Given the description of an element on the screen output the (x, y) to click on. 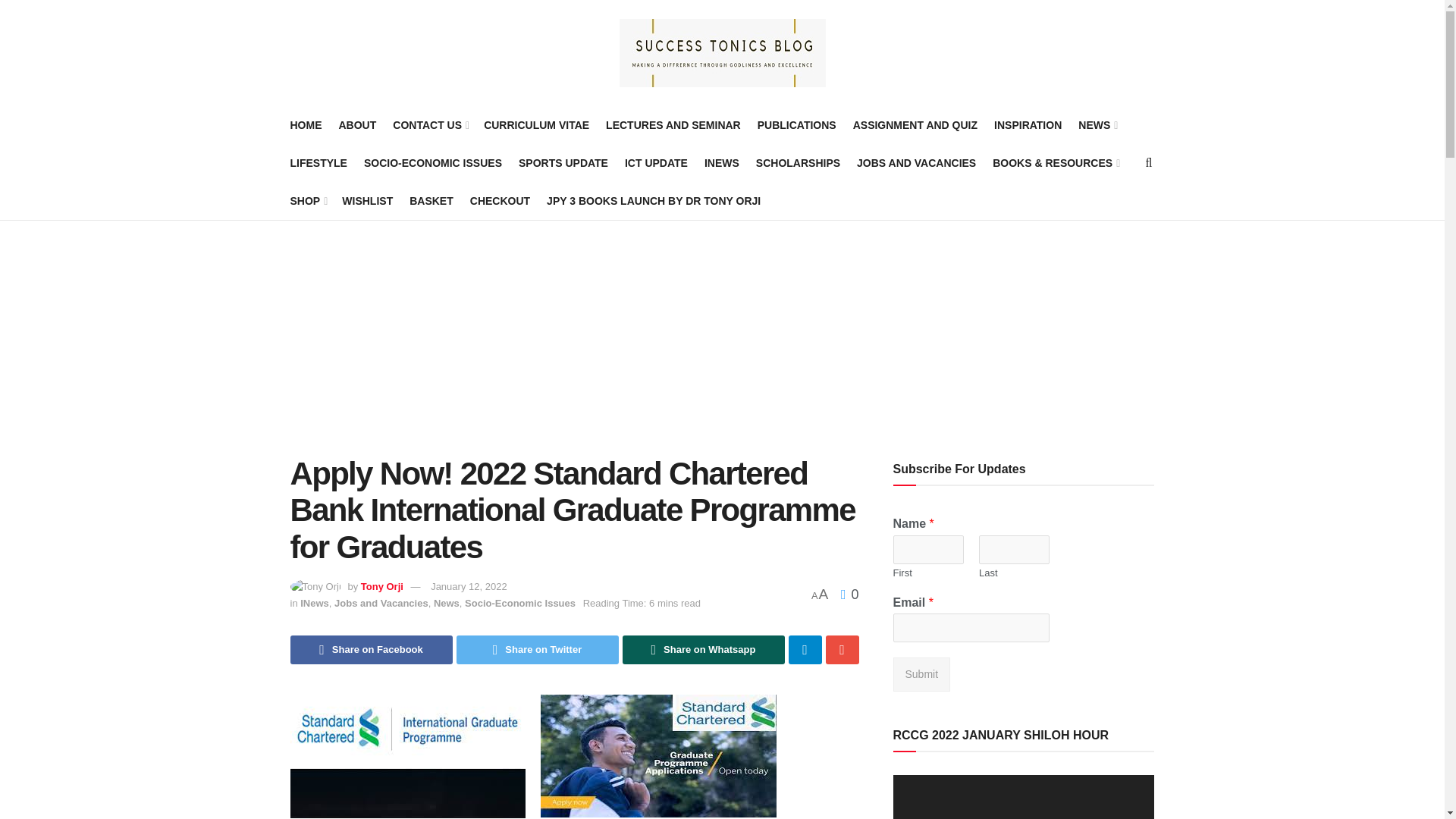
CURRICULUM VITAE (536, 124)
ASSIGNMENT AND QUIZ (914, 124)
ABOUT (356, 124)
SHOP (306, 200)
JPY 3 BOOKS LAUNCH BY DR TONY ORJI (653, 200)
PUBLICATIONS (796, 124)
SCHOLARSHIPS (797, 162)
HOME (305, 124)
LECTURES AND SEMINAR (673, 124)
SOCIO-ECONOMIC ISSUES (433, 162)
ICT UPDATE (655, 162)
INSPIRATION (1027, 124)
SPORTS UPDATE (563, 162)
CHECKOUT (499, 200)
